Given the description of an element on the screen output the (x, y) to click on. 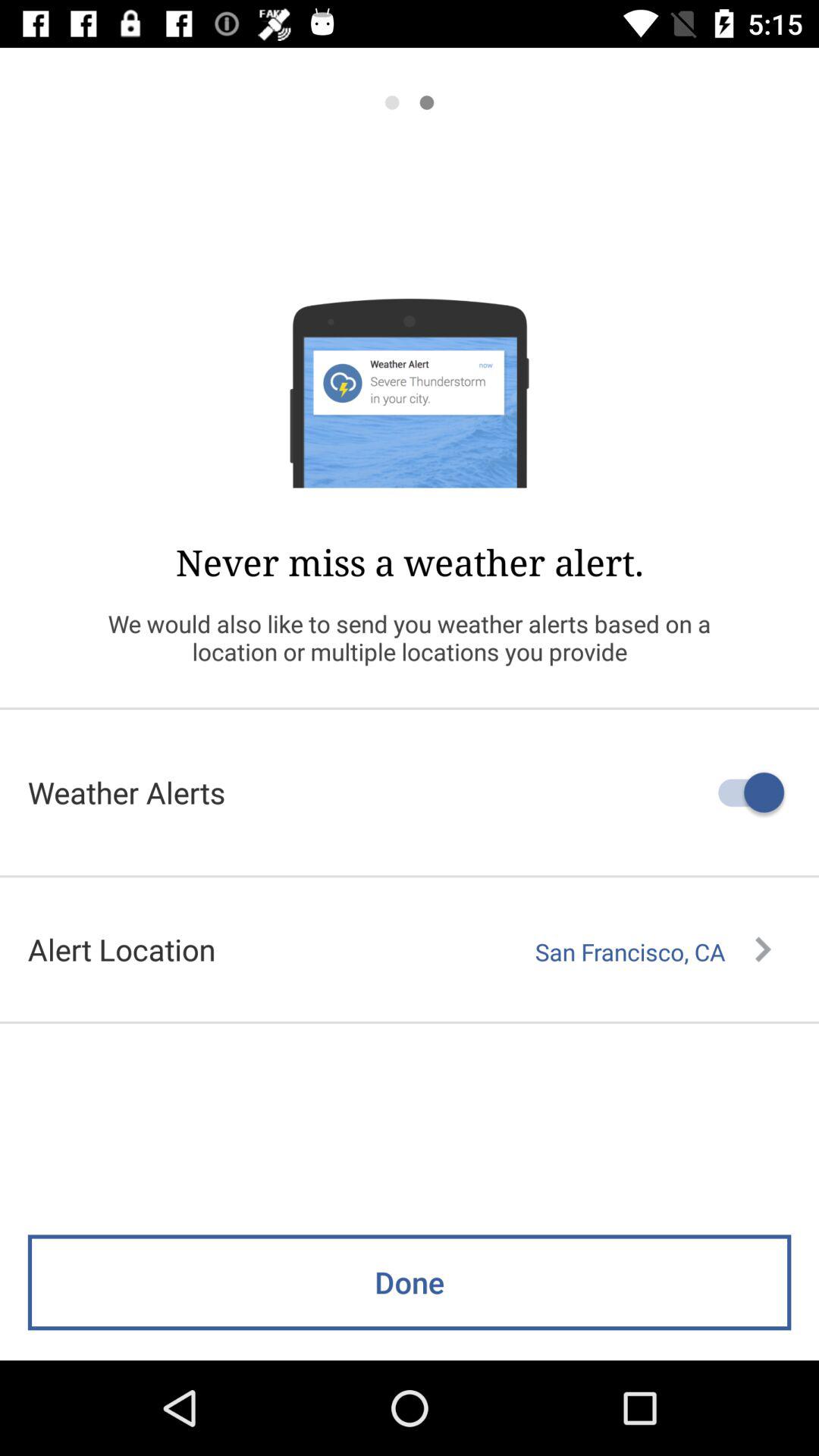
scroll to san francisco, ca icon (653, 951)
